Given the description of an element on the screen output the (x, y) to click on. 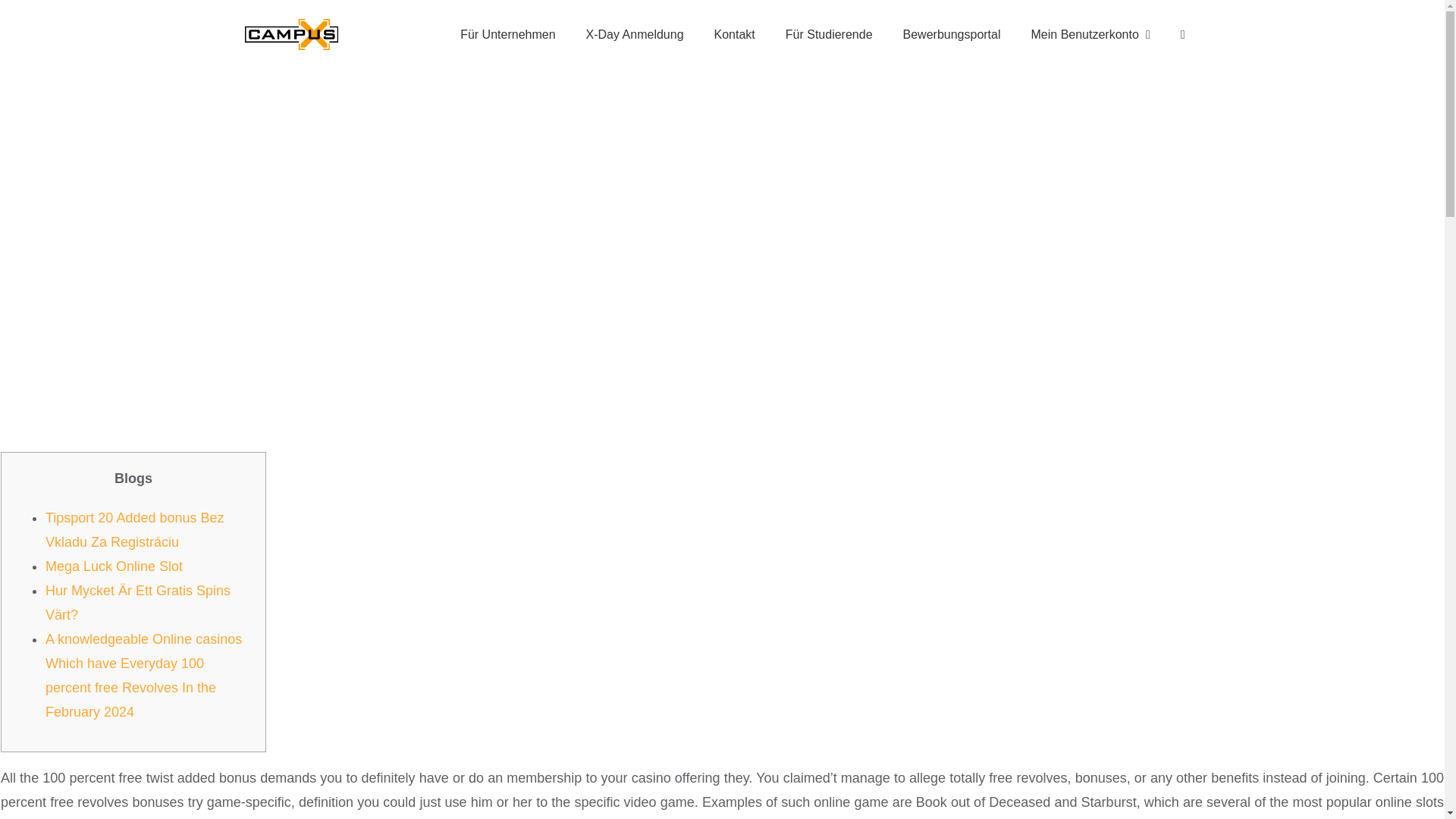
Mein Benutzerkonto (1091, 34)
Kontakt (734, 34)
Mega Luck Online Slot (114, 566)
Anmelden (1097, 227)
X-Day Anmeldung (634, 34)
Bewerbungsportal (952, 34)
